Given the description of an element on the screen output the (x, y) to click on. 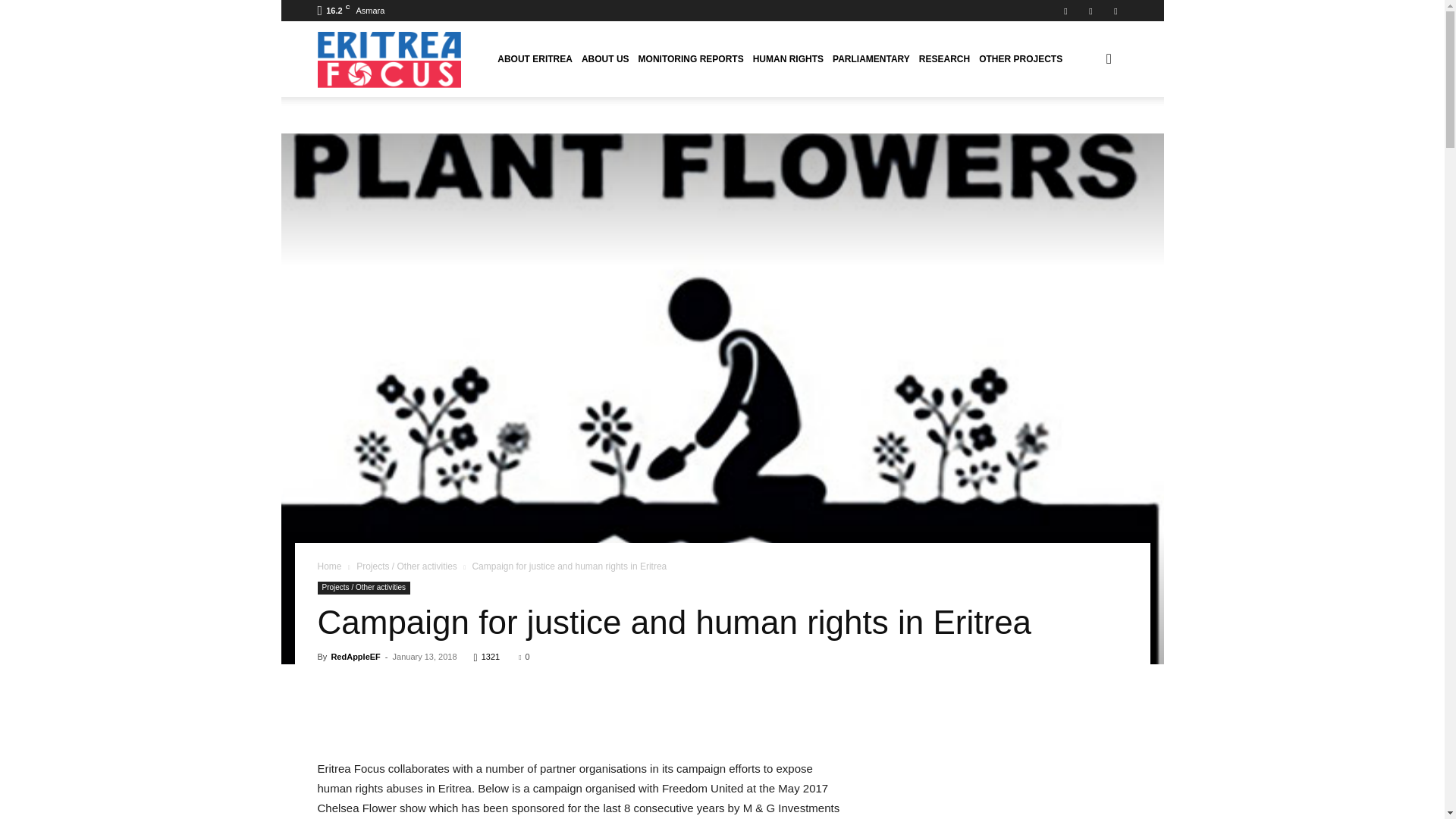
RESEARCH (944, 58)
RedAppleEF (355, 655)
Search (1085, 131)
Youtube (1114, 10)
Home (328, 566)
MONITORING REPORTS (690, 58)
PARLIAMENTARY (871, 58)
Eritrea Focus (389, 59)
ABOUT US (604, 58)
OTHER PROJECTS (1020, 58)
